Given the description of an element on the screen output the (x, y) to click on. 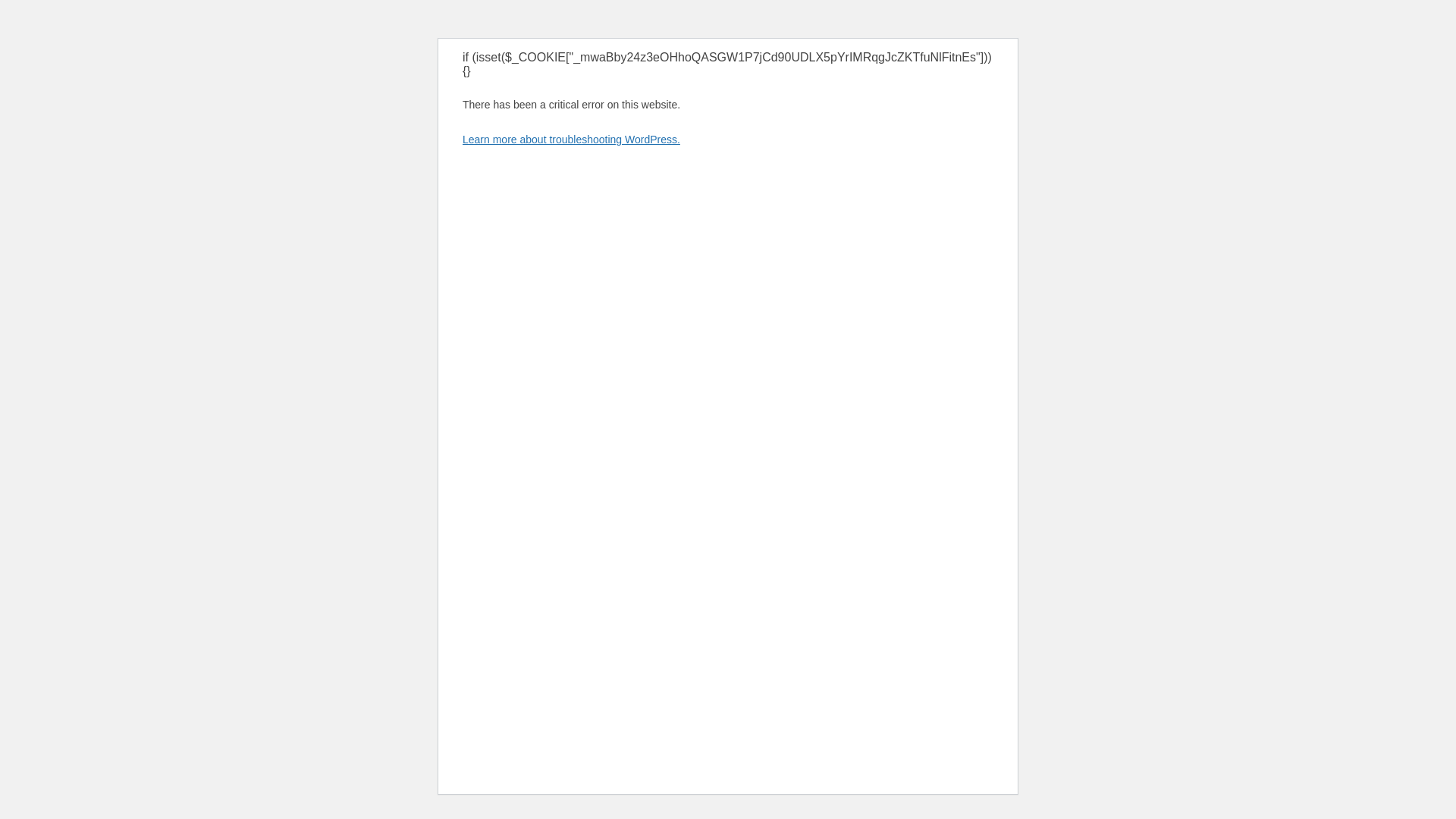
Learn more about troubleshooting WordPress. (571, 139)
